Given the description of an element on the screen output the (x, y) to click on. 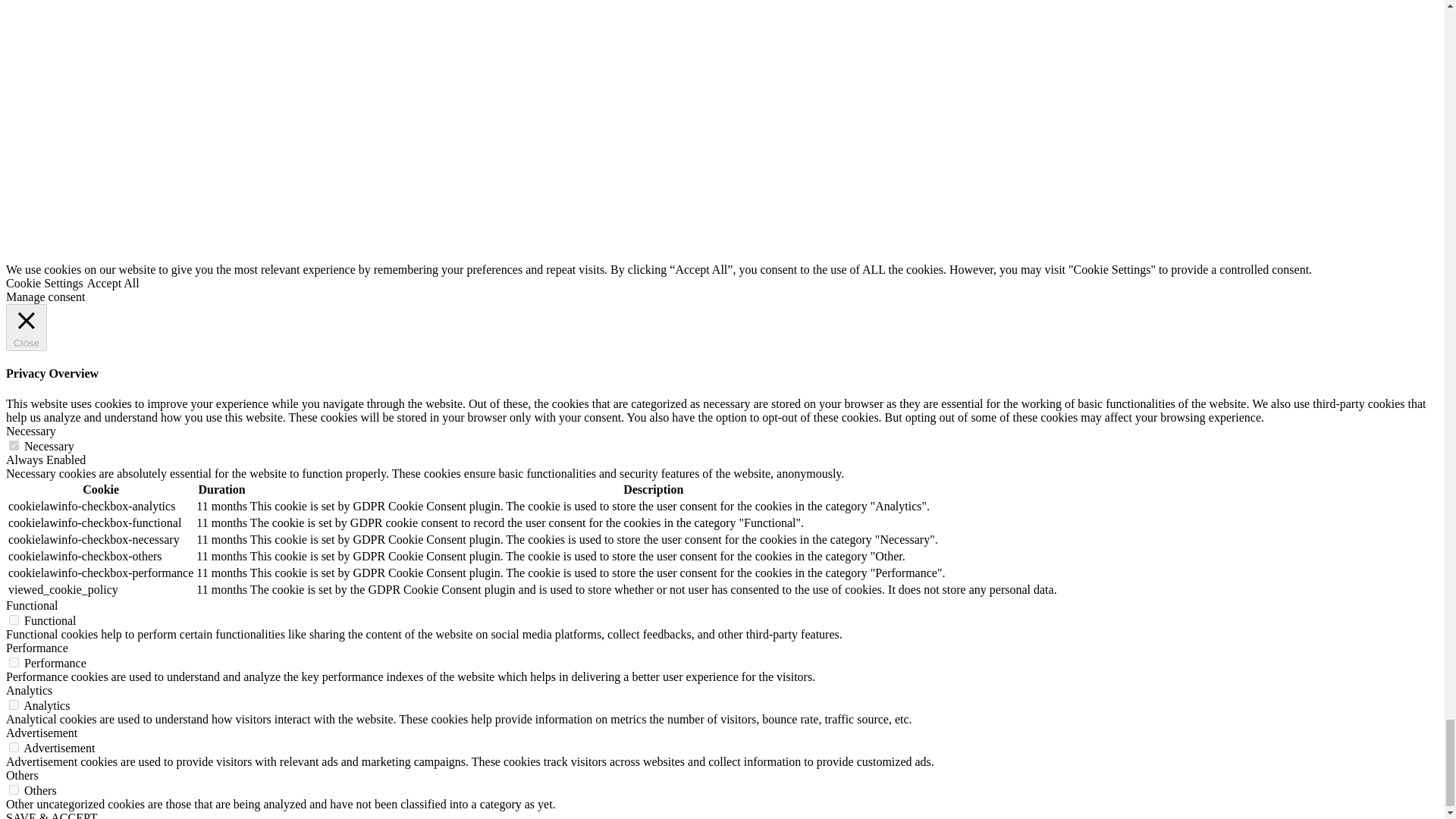
on (13, 619)
on (13, 662)
on (13, 747)
on (13, 445)
on (13, 705)
on (13, 789)
